Given the description of an element on the screen output the (x, y) to click on. 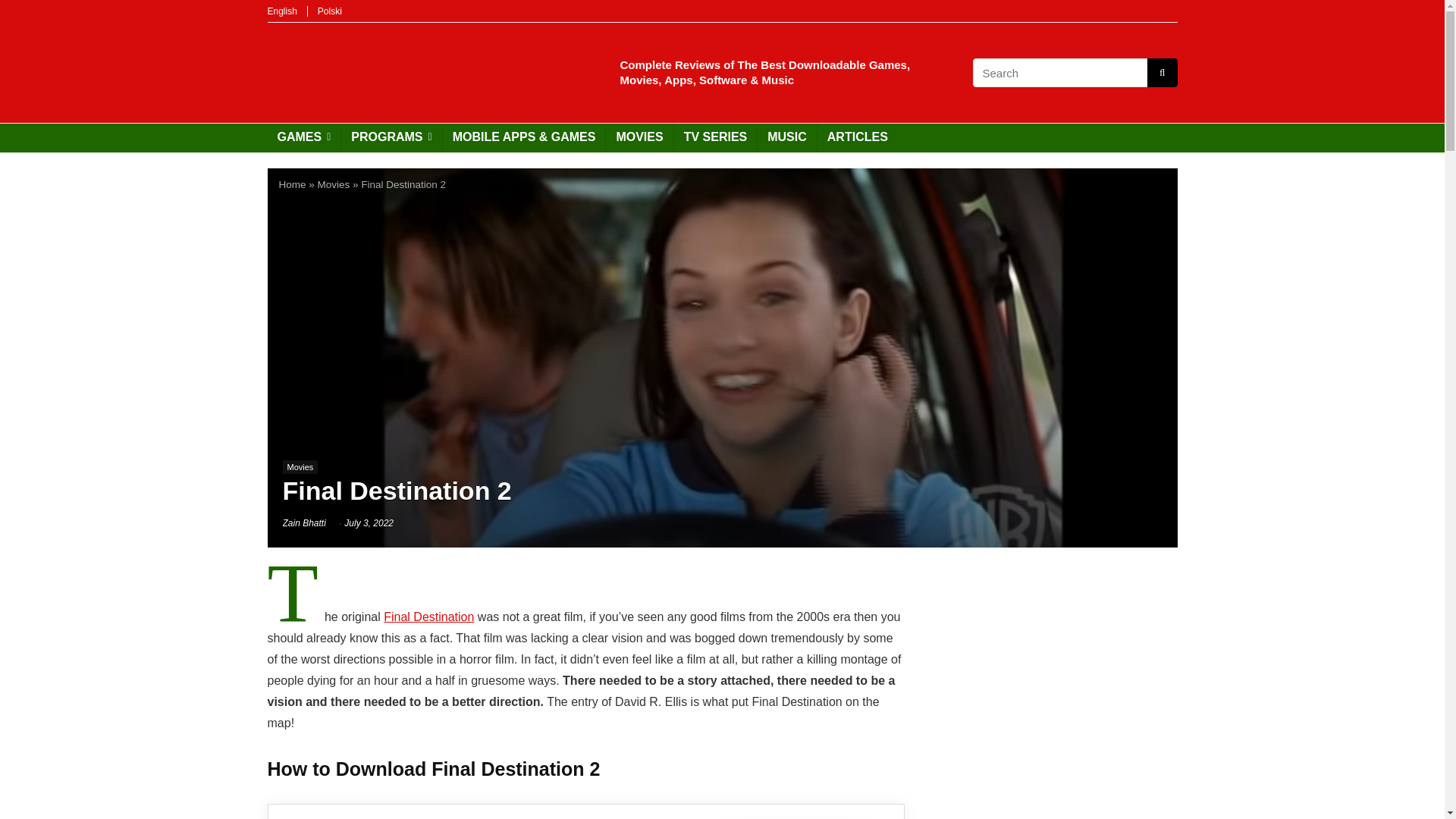
View all posts in Movies (299, 467)
Movies (333, 184)
ARTICLES (857, 137)
Polski (329, 10)
Movies (299, 467)
Home (292, 184)
MOVIES (638, 137)
PROGRAMS (390, 137)
Zain Bhatti (303, 522)
GAMES (303, 137)
